Given the description of an element on the screen output the (x, y) to click on. 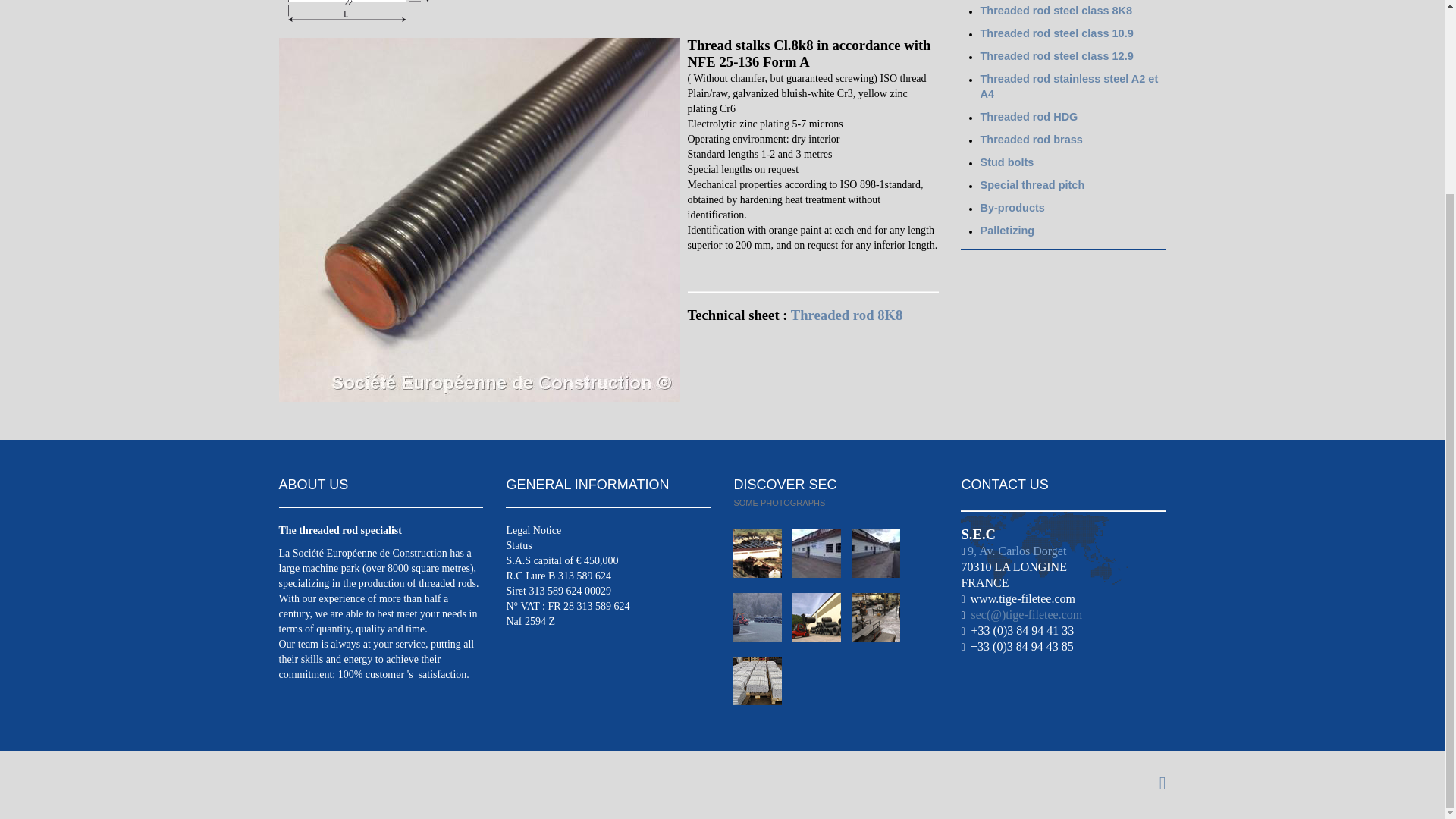
photo6 (879, 623)
Threaded rod steel class 8K8 (1055, 10)
photo2 (821, 560)
photo3 (879, 560)
photo7 (761, 687)
photo1 (762, 560)
photo5 (821, 623)
photo4 (762, 623)
Threaded rod 8K8 (846, 314)
